Given the description of an element on the screen output the (x, y) to click on. 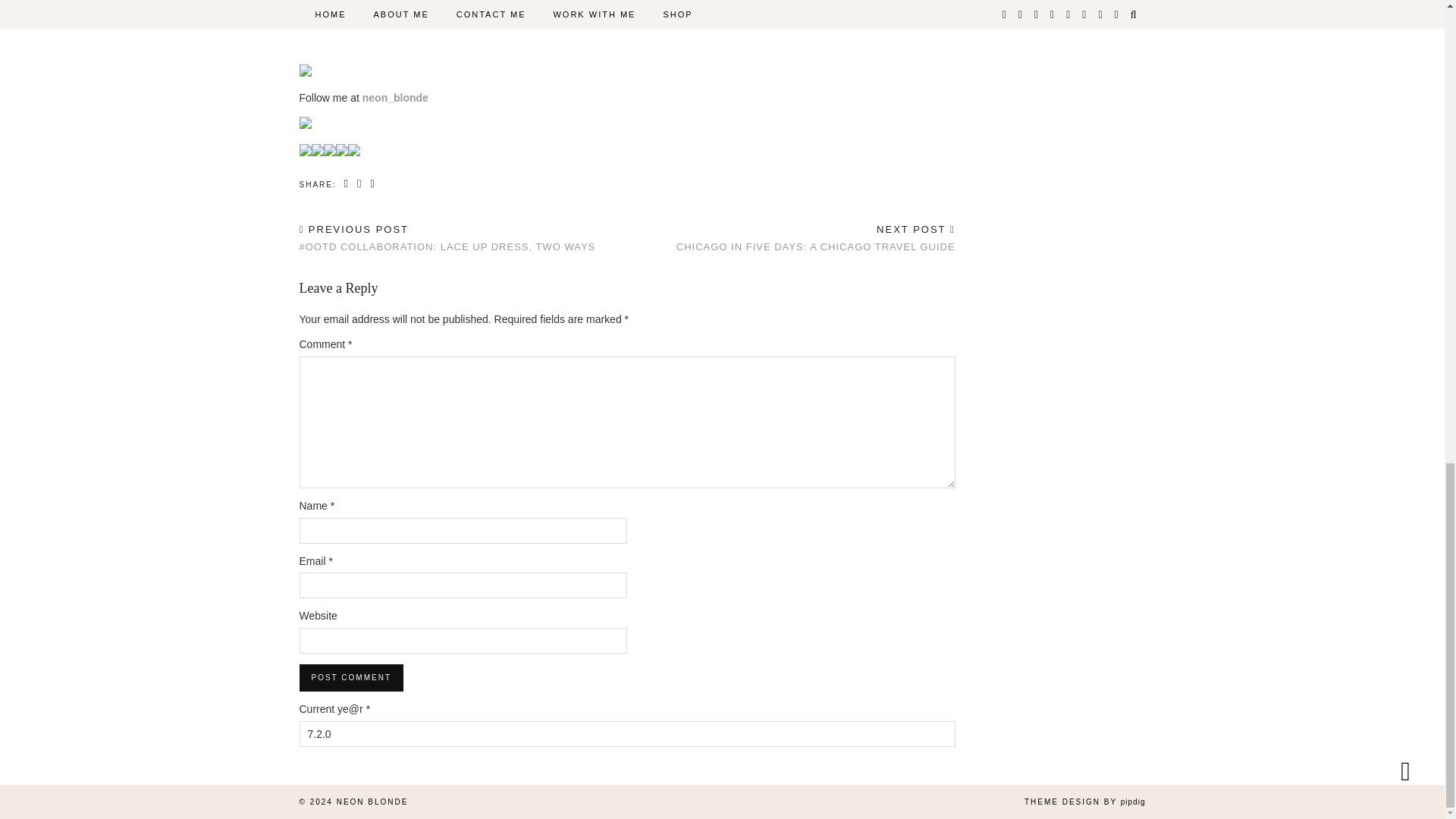
7.2.0 (626, 733)
Share on Twitter (359, 184)
Share on Facebook (346, 184)
Post Comment (816, 238)
Post Comment (350, 677)
Share on Pinterest (350, 677)
